Given the description of an element on the screen output the (x, y) to click on. 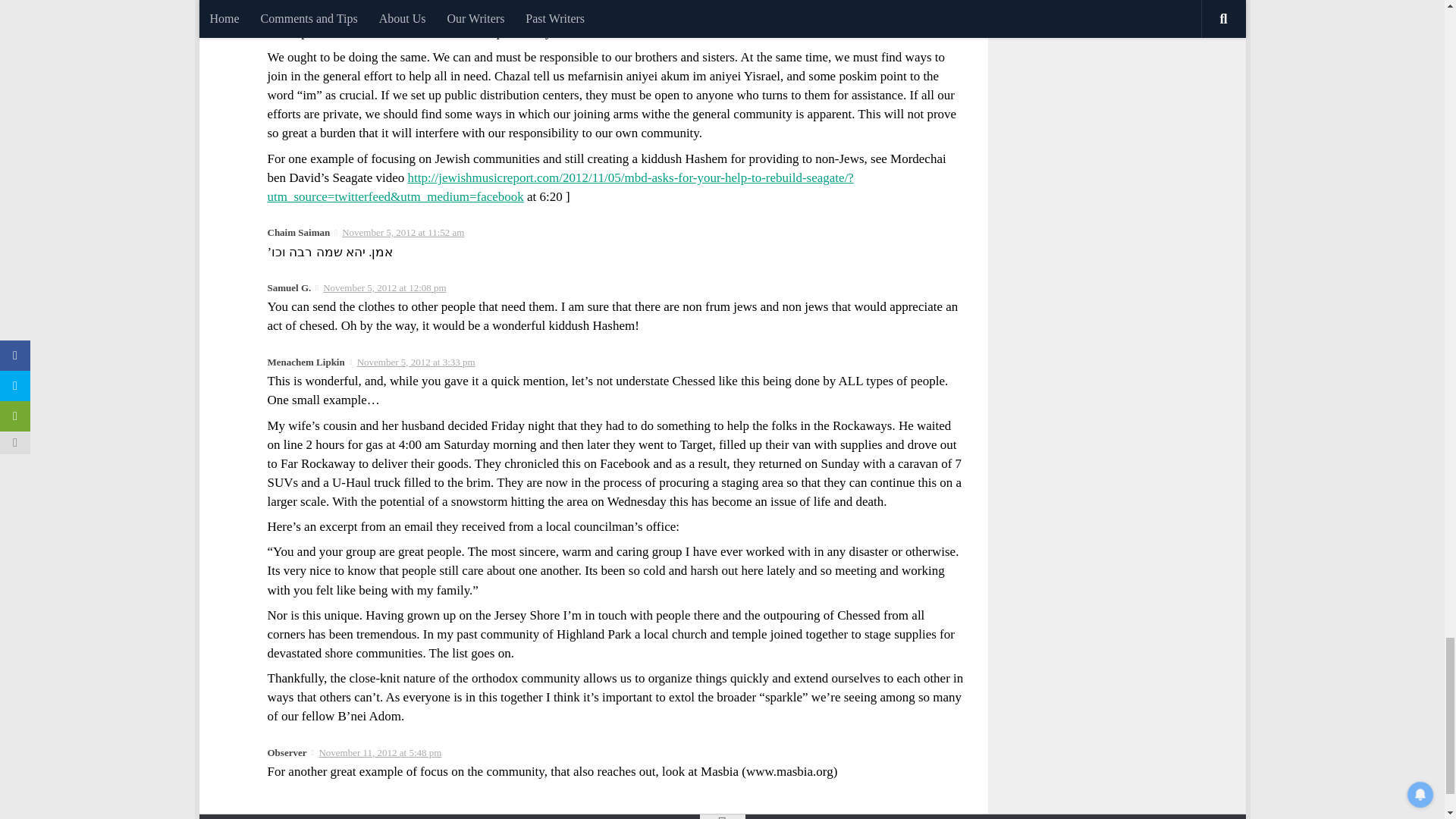
November 5, 2012 at 11:52 am (403, 232)
November 11, 2012 at 5:48 pm (379, 752)
November 5, 2012 at 12:08 pm (384, 287)
November 5, 2012 at 3:33 pm (416, 361)
